Given the description of an element on the screen output the (x, y) to click on. 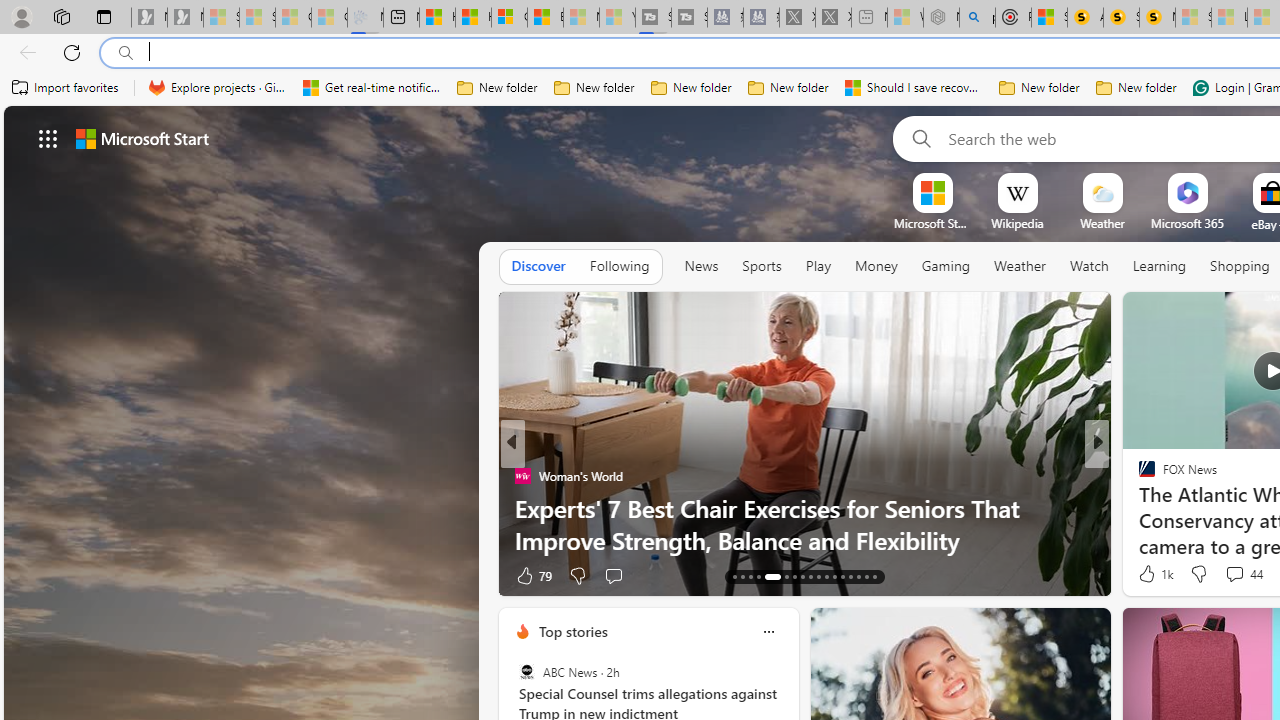
The Weather Channel (1138, 475)
Sports (761, 265)
Personal Profile (21, 16)
View comments 77 Comment (1244, 574)
Watch (1089, 267)
Money (875, 265)
View comments 4 Comment (1229, 575)
Inc. (1138, 475)
View comments 3 Comment (1229, 575)
Discover (538, 265)
46 Like (1149, 574)
Fox Business (1138, 507)
21 Like (1149, 574)
AutomationID: tab-19 (793, 576)
